Given the description of an element on the screen output the (x, y) to click on. 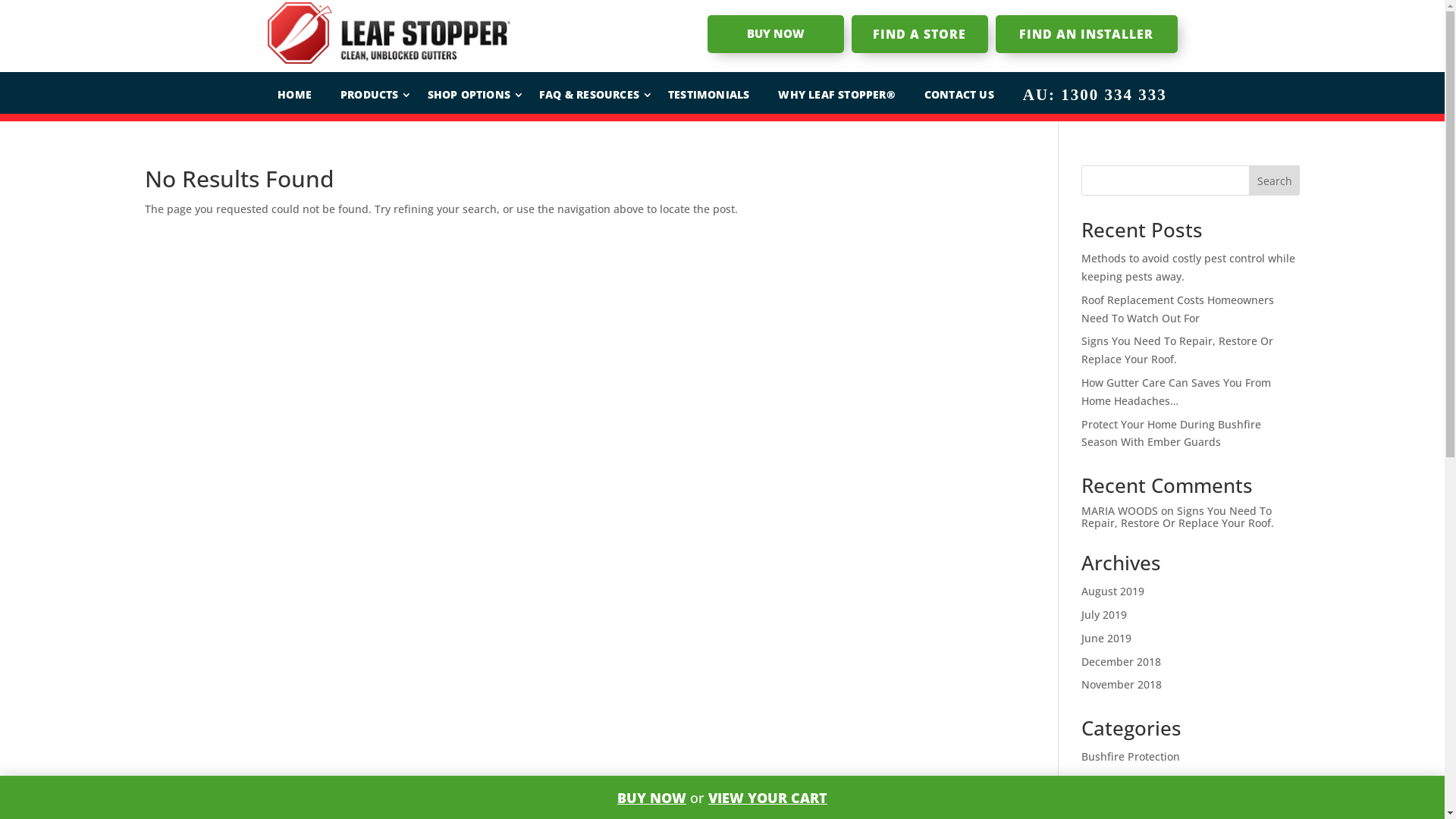
BUY NOW Element type: text (774, 34)
July 2019 Element type: text (1103, 614)
SHOP OPTIONS Element type: text (468, 94)
CONTACT US Element type: text (959, 94)
November 2018 Element type: text (1121, 684)
June 2019 Element type: text (1106, 637)
Signs You Need To Repair, Restore Or Replace Your Roof. Element type: text (1177, 516)
Gutter Guard Cleaning Element type: text (1138, 779)
Protect Your Home During Bushfire Season With Ember Guards Element type: text (1171, 433)
FIND A STORE Element type: text (918, 34)
BUY NOW Element type: text (651, 797)
Signs You Need To Repair, Restore Or Replace Your Roof. Element type: text (1177, 349)
Gutter Guard Tips Element type: text (1127, 803)
PRODUCTS Element type: text (369, 94)
Leaf-Stopper-Logo-New Element type: hover (387, 32)
Bushfire Protection Element type: text (1130, 756)
HOME Element type: text (294, 94)
December 2018 Element type: text (1121, 661)
FAQ & RESOURCES Element type: text (589, 94)
AU: 1300 334 333 Element type: text (1094, 94)
Roof Replacement Costs Homeowners Need To Watch Out For Element type: text (1177, 308)
August 2019 Element type: text (1112, 590)
Search Element type: text (1274, 180)
VIEW YOUR CART Element type: text (767, 797)
FIND AN INSTALLER Element type: text (1085, 34)
TESTIMONIALS Element type: text (708, 94)
